Given the description of an element on the screen output the (x, y) to click on. 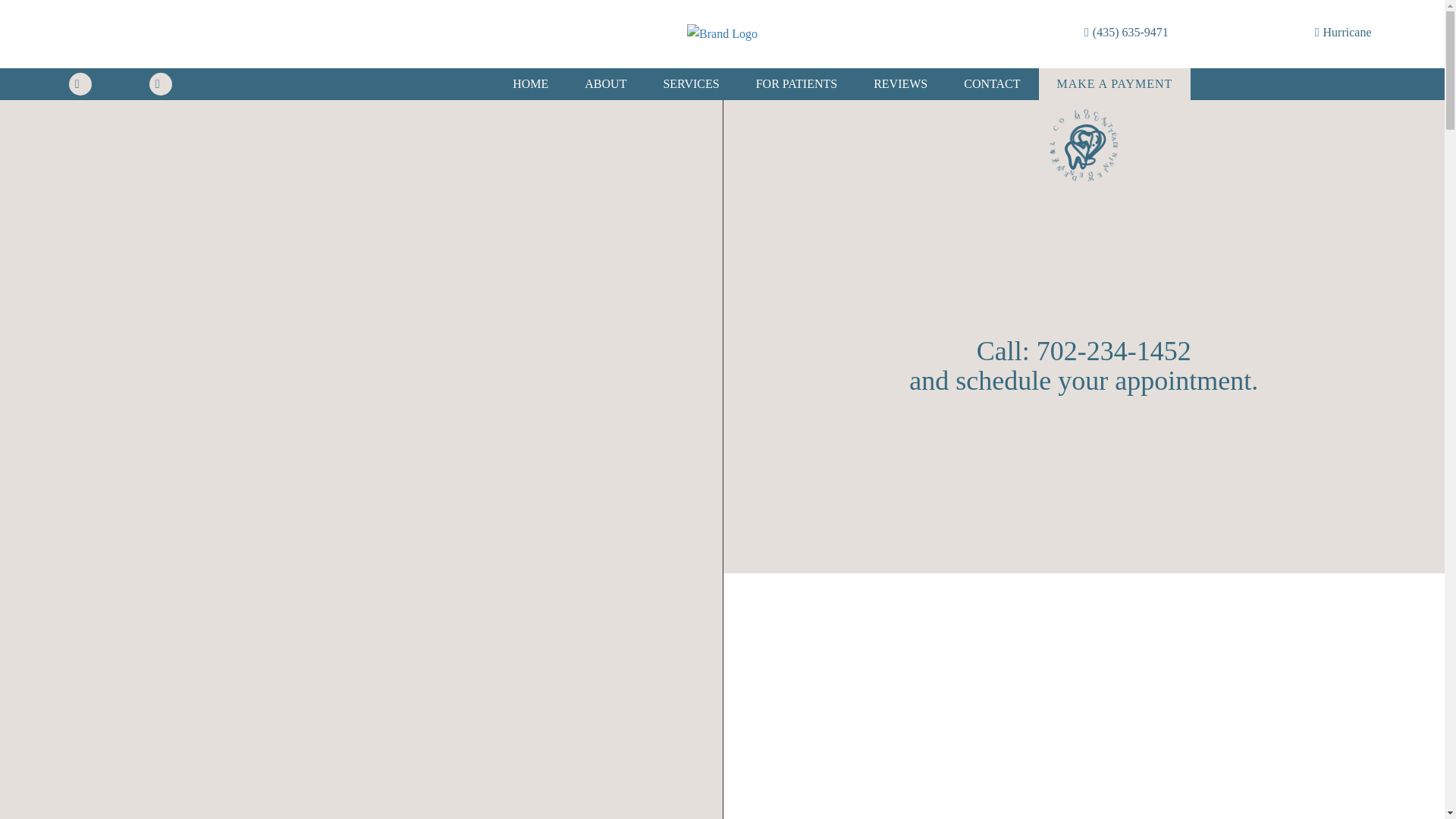
Brand Logo (722, 34)
Hurricane (1342, 32)
MOUNTAINVIEW DENTAL (1084, 147)
ABOUT (605, 83)
FOR PATIENTS (797, 83)
HOME (530, 83)
SERVICES (690, 83)
LOCATED IN DENVER, CO (1083, 142)
